Given the description of an element on the screen output the (x, y) to click on. 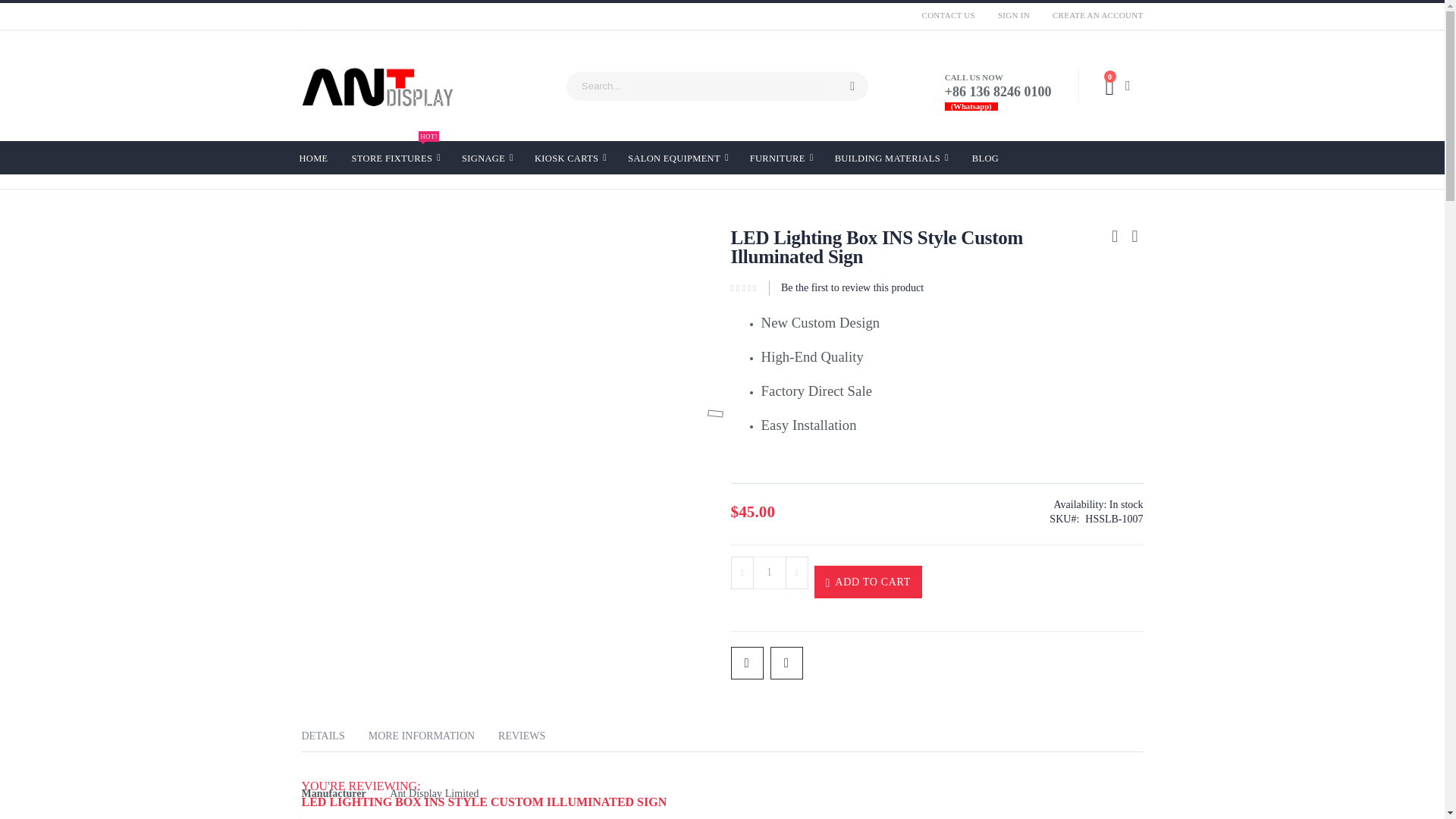
Store Fixtures (395, 157)
Search (851, 86)
Search (851, 86)
CONTACT US (949, 15)
CREATE AN ACCOUNT (1091, 15)
SIGN IN (1014, 15)
1 (395, 157)
HOME (769, 572)
